Given the description of an element on the screen output the (x, y) to click on. 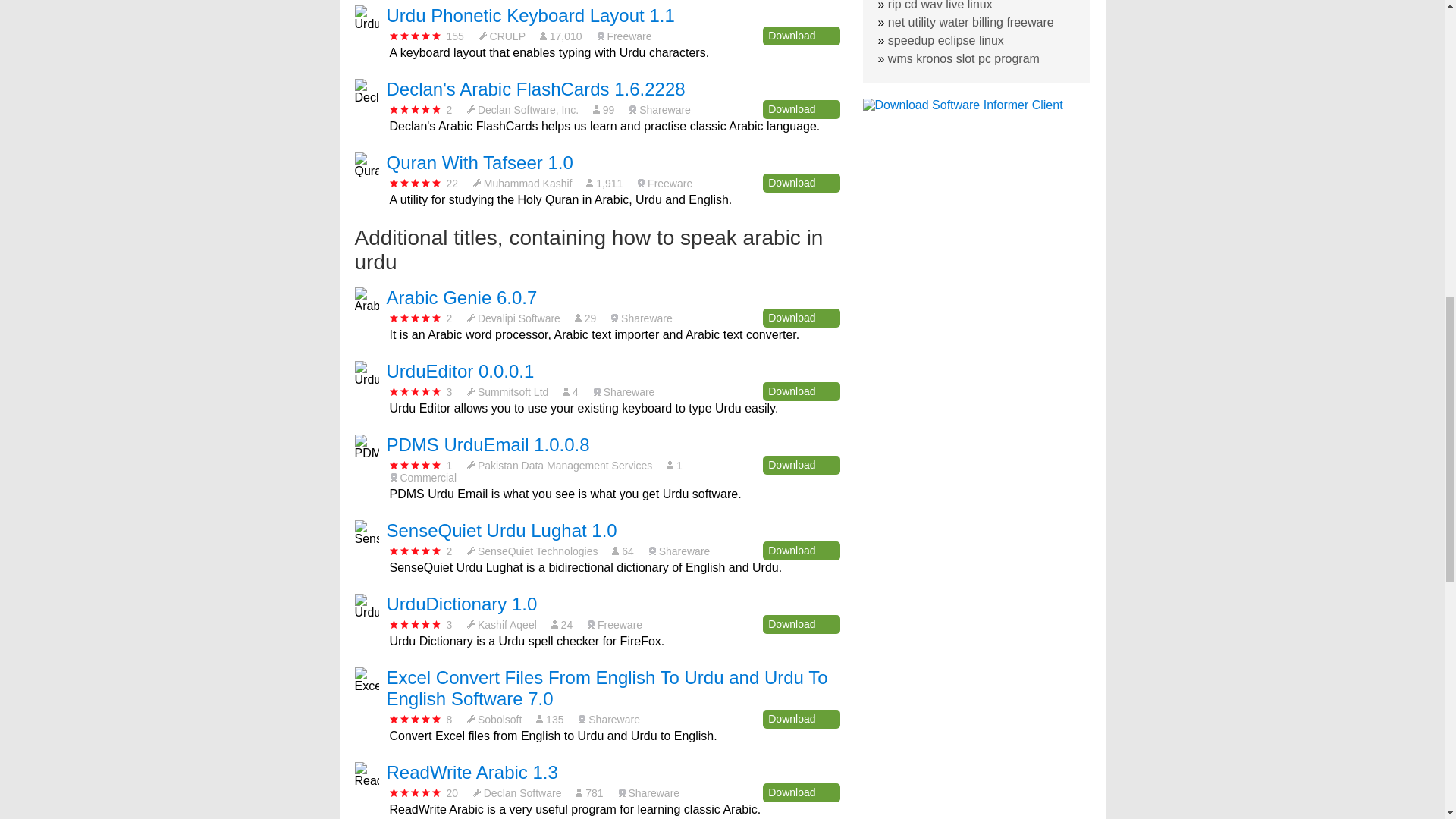
Download (801, 108)
Download (801, 465)
Download (801, 719)
Download (801, 624)
Download (801, 317)
Download (801, 35)
Urdu Phonetic Keyboard Layout 1.1 (531, 14)
UrduEditor 0.0.0.1 (460, 371)
Declan's Arabic FlashCards 1.6.2228 (536, 88)
Download (801, 182)
Download (801, 391)
UrduDictionary 1.0 (462, 603)
PDMS UrduEmail 1.0.0.8 (488, 444)
Arabic Genie 6.0.7 (462, 297)
